Given the description of an element on the screen output the (x, y) to click on. 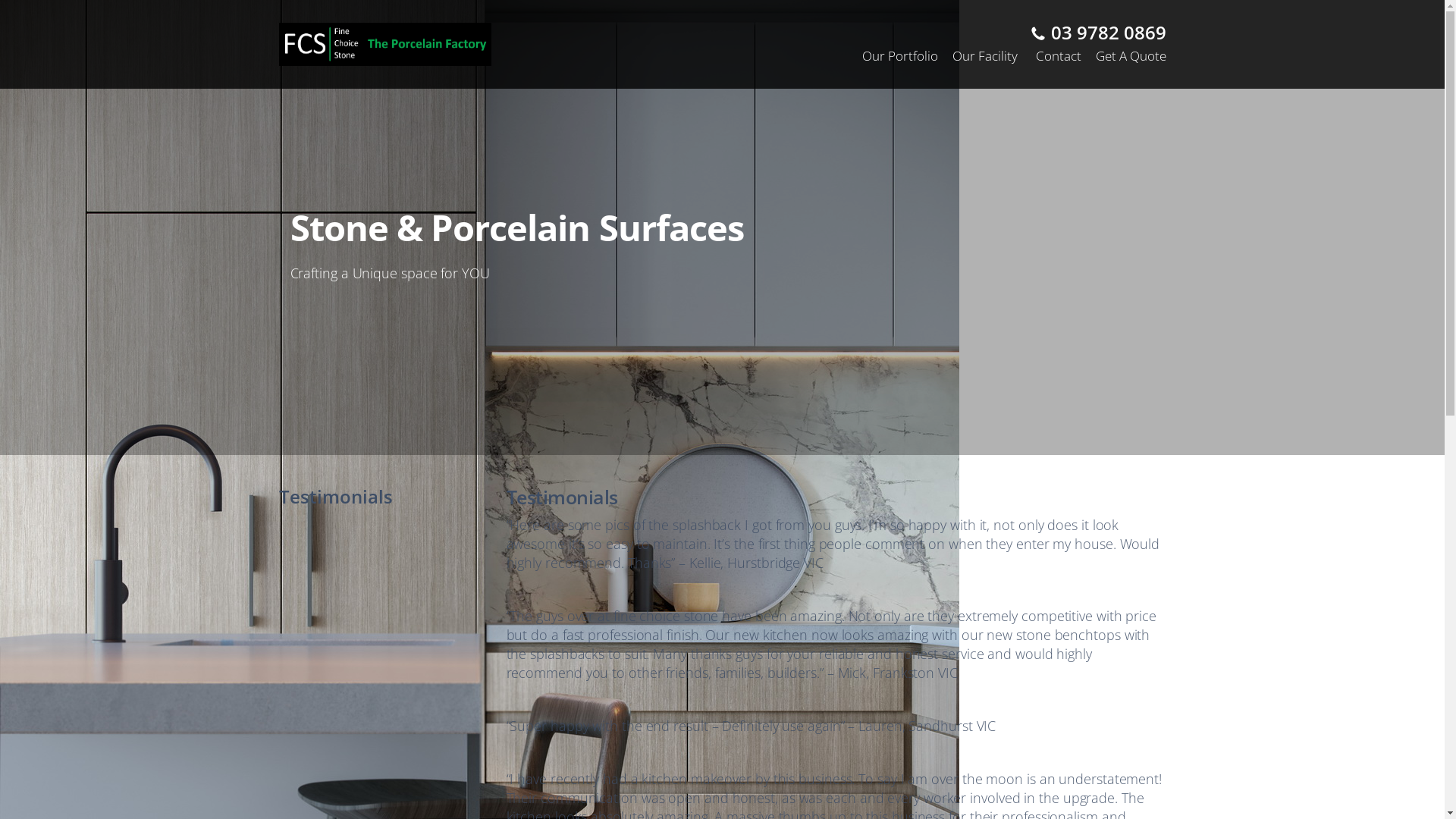
Our Portfolio Element type: text (901, 56)
Our Facility Element type: text (984, 56)
Contact Element type: text (1058, 56)
Get A Quote Element type: text (1128, 56)
